Given the description of an element on the screen output the (x, y) to click on. 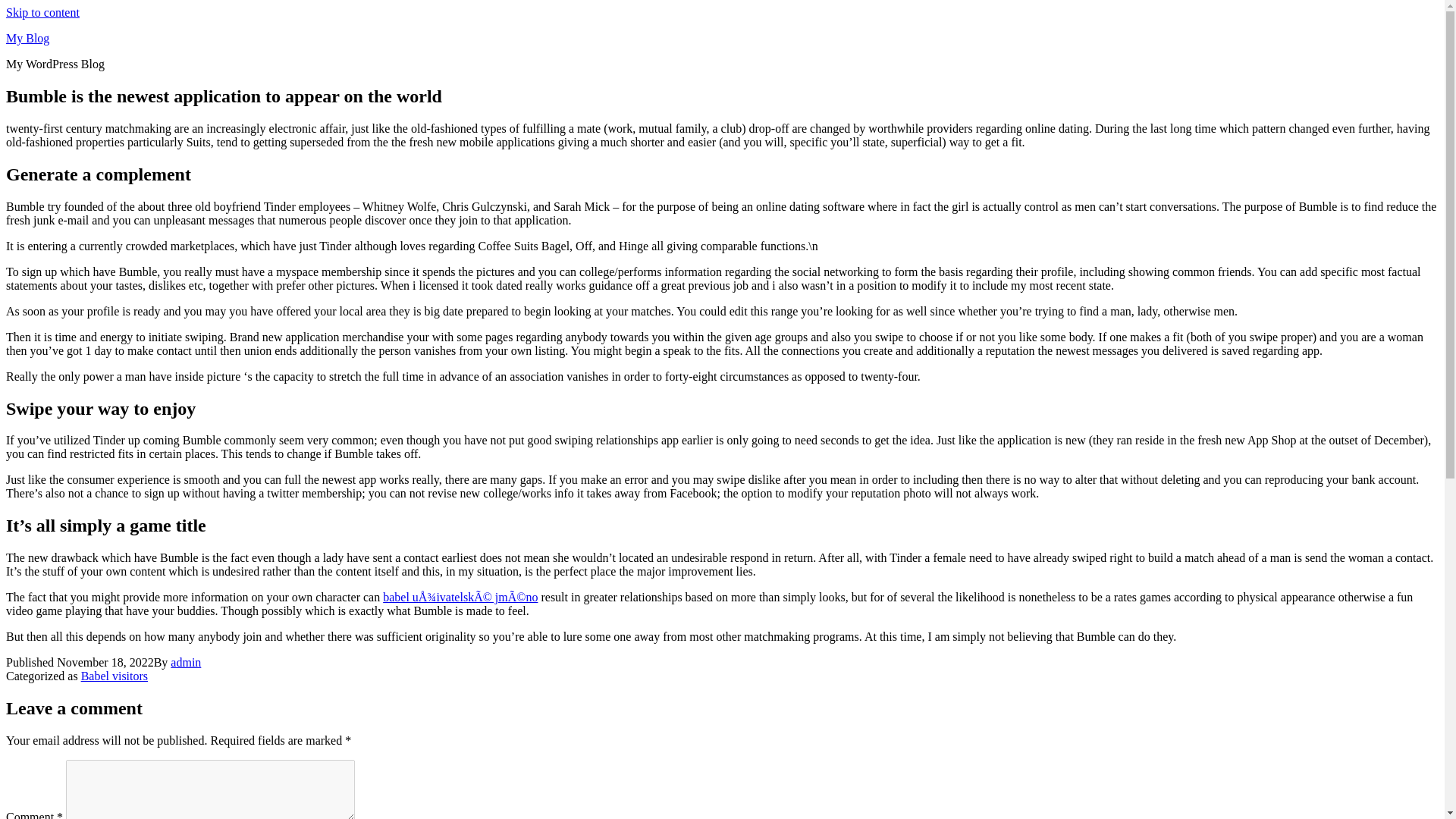
Skip to content (42, 11)
Babel visitors (114, 675)
My Blog (27, 38)
admin (185, 662)
